Given the description of an element on the screen output the (x, y) to click on. 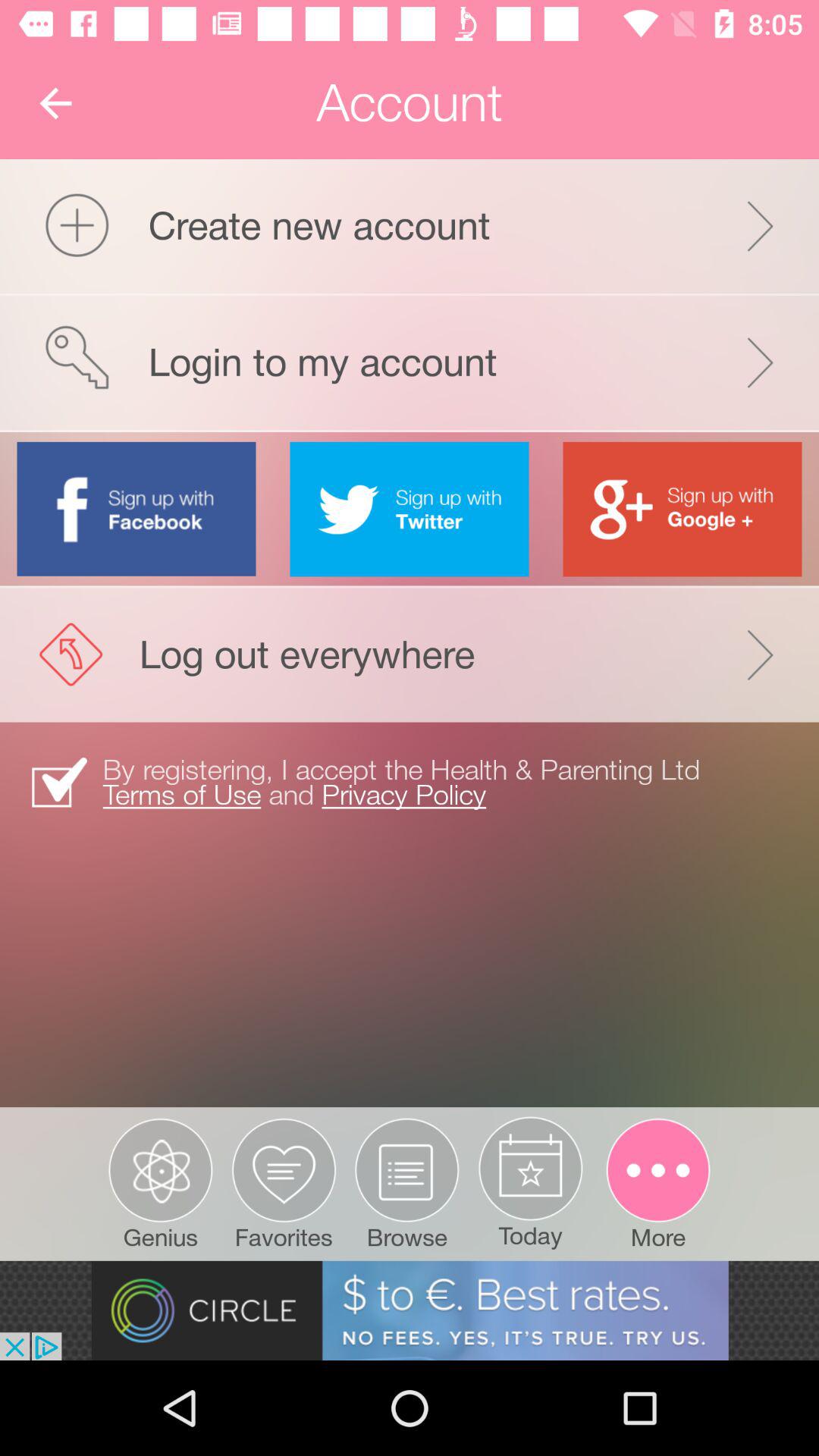
twitter (409, 508)
